Given the description of an element on the screen output the (x, y) to click on. 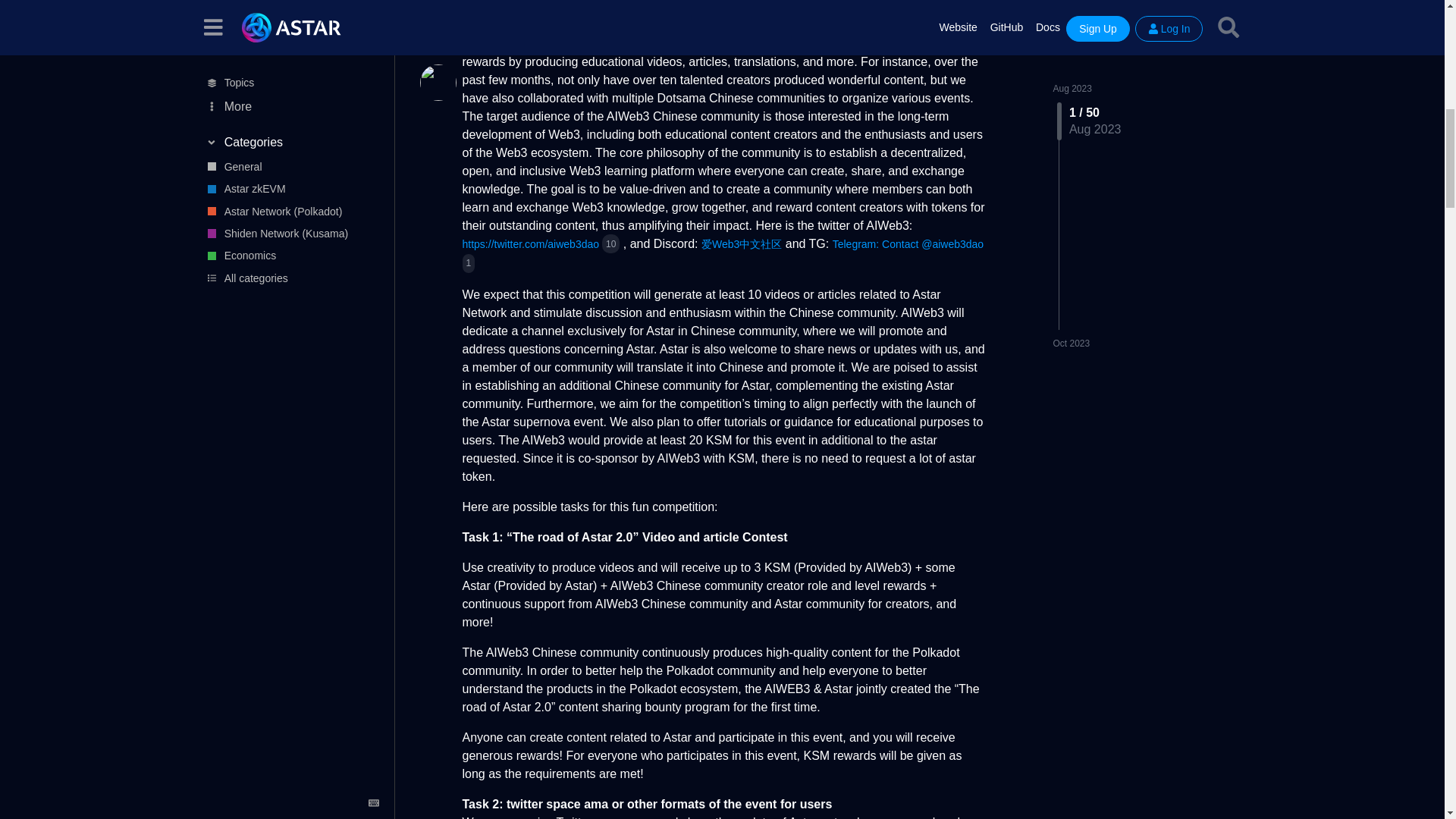
10 clicks (611, 243)
Oct 2023 (1070, 37)
Jump to the last post (1070, 37)
